Given the description of an element on the screen output the (x, y) to click on. 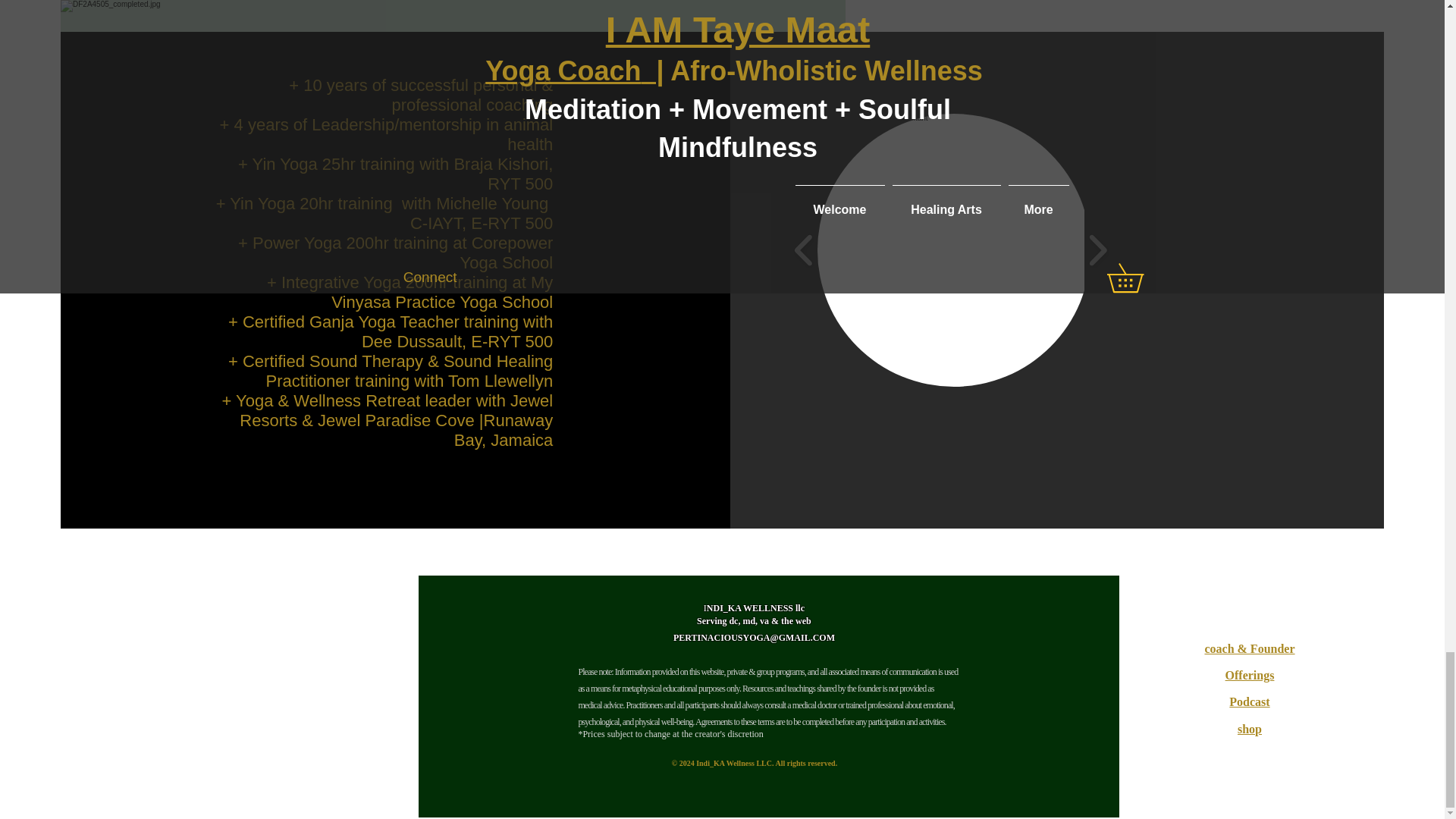
shop (1249, 728)
Podcast (1248, 701)
Offerings (1250, 675)
